Given the description of an element on the screen output the (x, y) to click on. 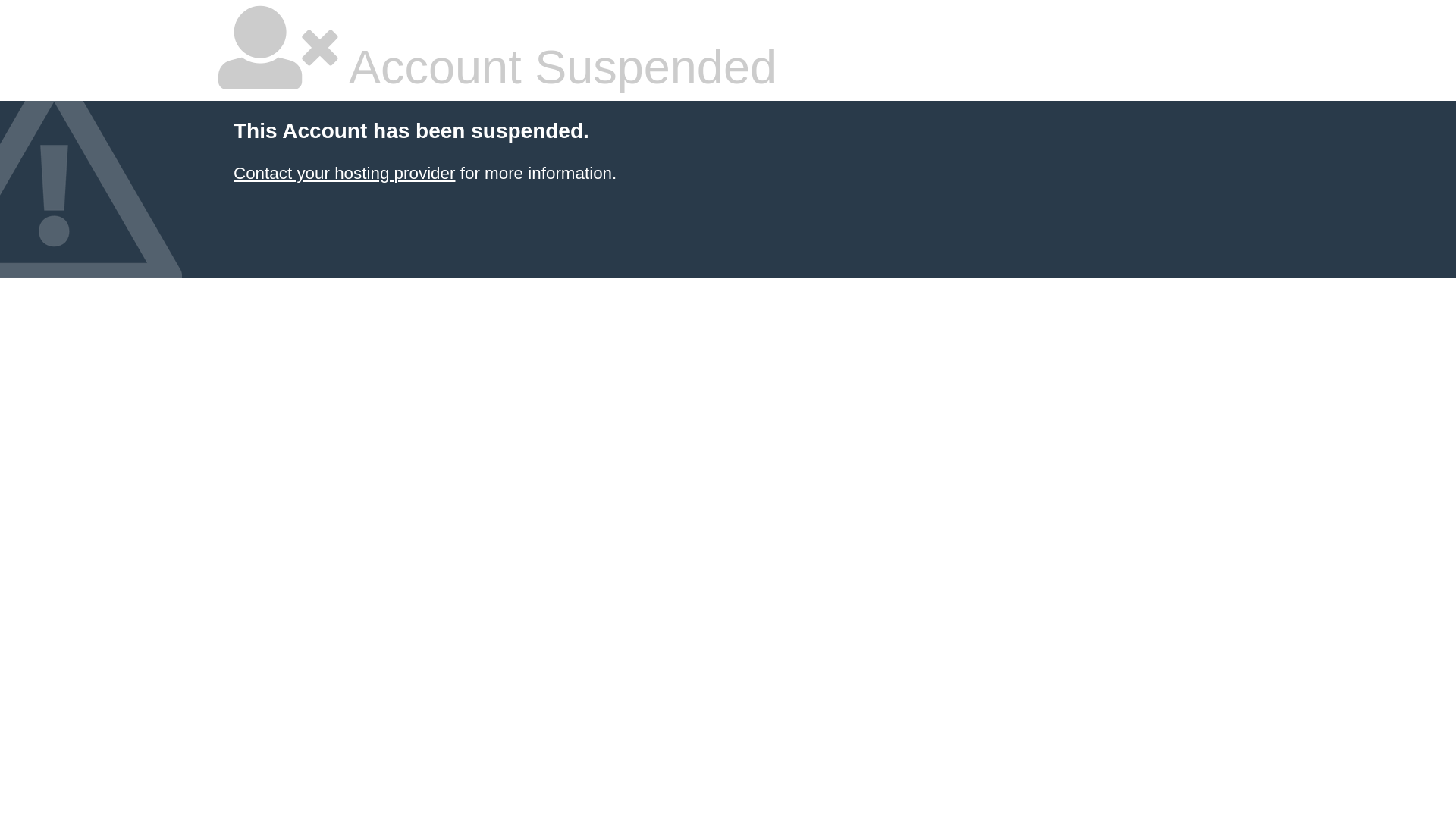
Contact your hosting provider Element type: text (344, 172)
